Given the description of an element on the screen output the (x, y) to click on. 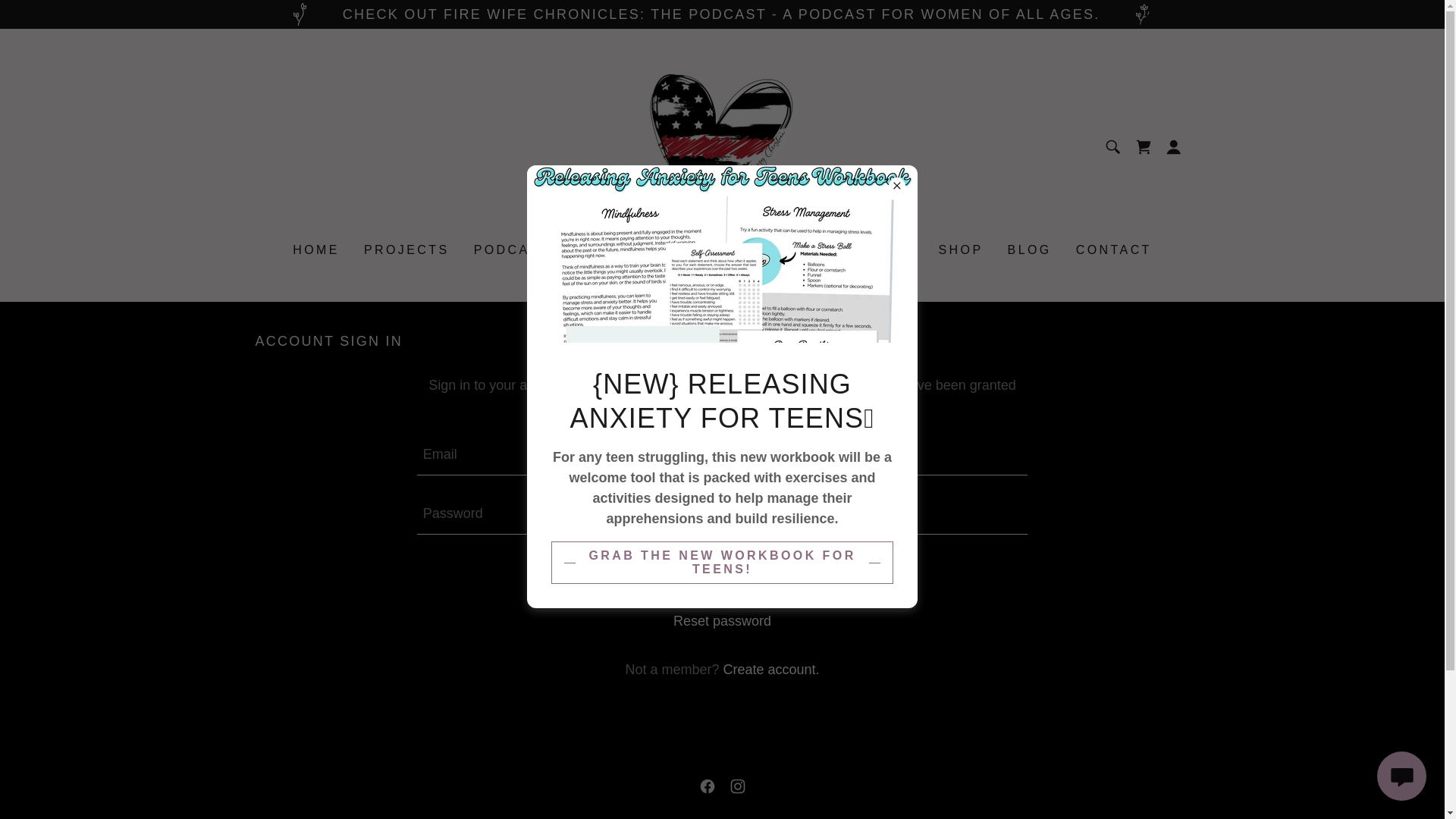
HOME (315, 249)
PRINTABLES (705, 249)
Fire Wife Chronicles (721, 145)
CONTACT (1113, 249)
BOOKS (602, 249)
PROJECTS (406, 249)
SHOP (960, 249)
BLOG (1030, 249)
PODCAST (511, 249)
